Given the description of an element on the screen output the (x, y) to click on. 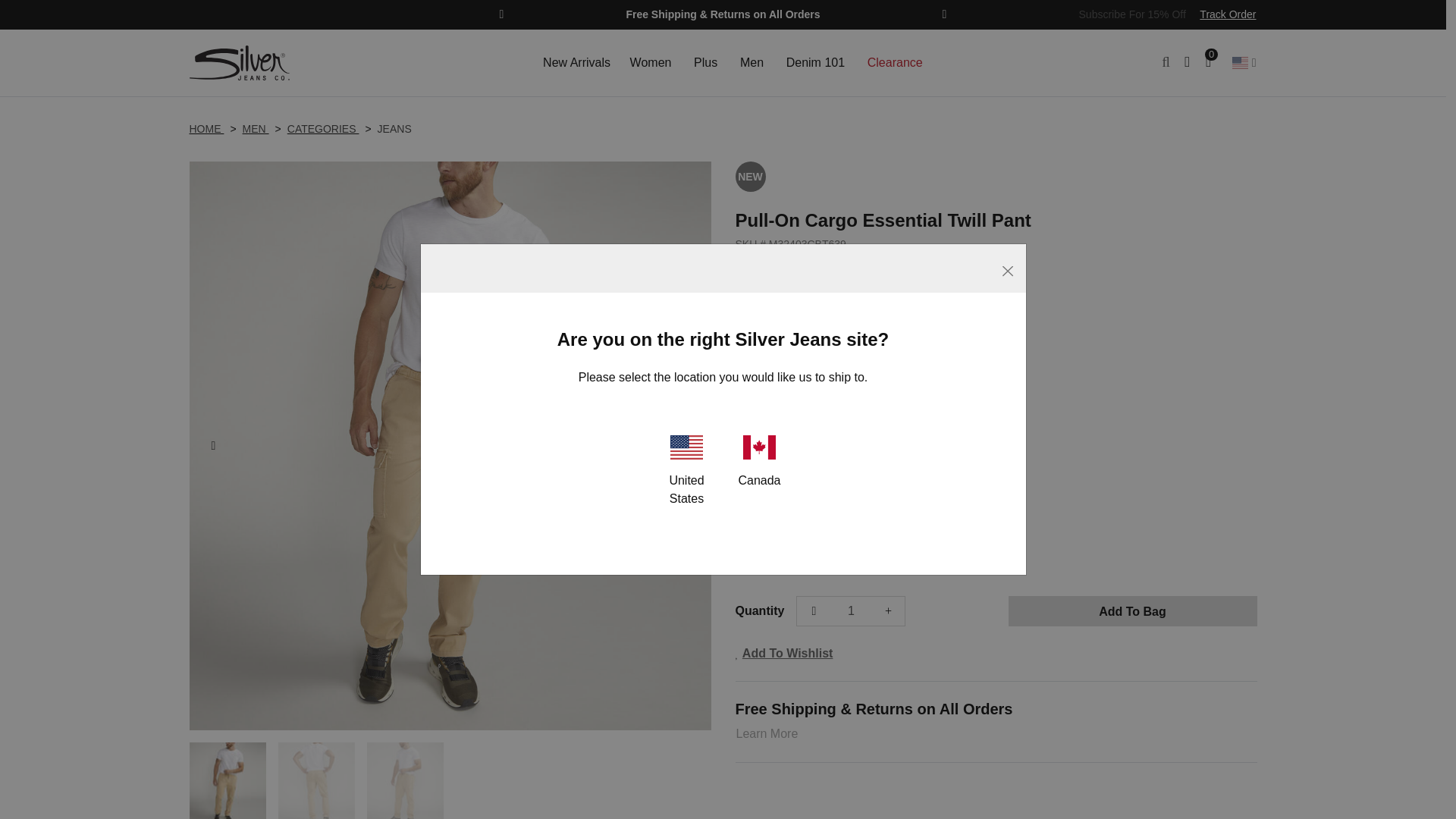
Olive (798, 365)
New (750, 176)
1 (850, 610)
Light Khaki (772, 365)
Track Order (1222, 14)
Cart 0 Items (1216, 61)
Dark Grey (746, 365)
Silver Jeans (246, 63)
